Given the description of an element on the screen output the (x, y) to click on. 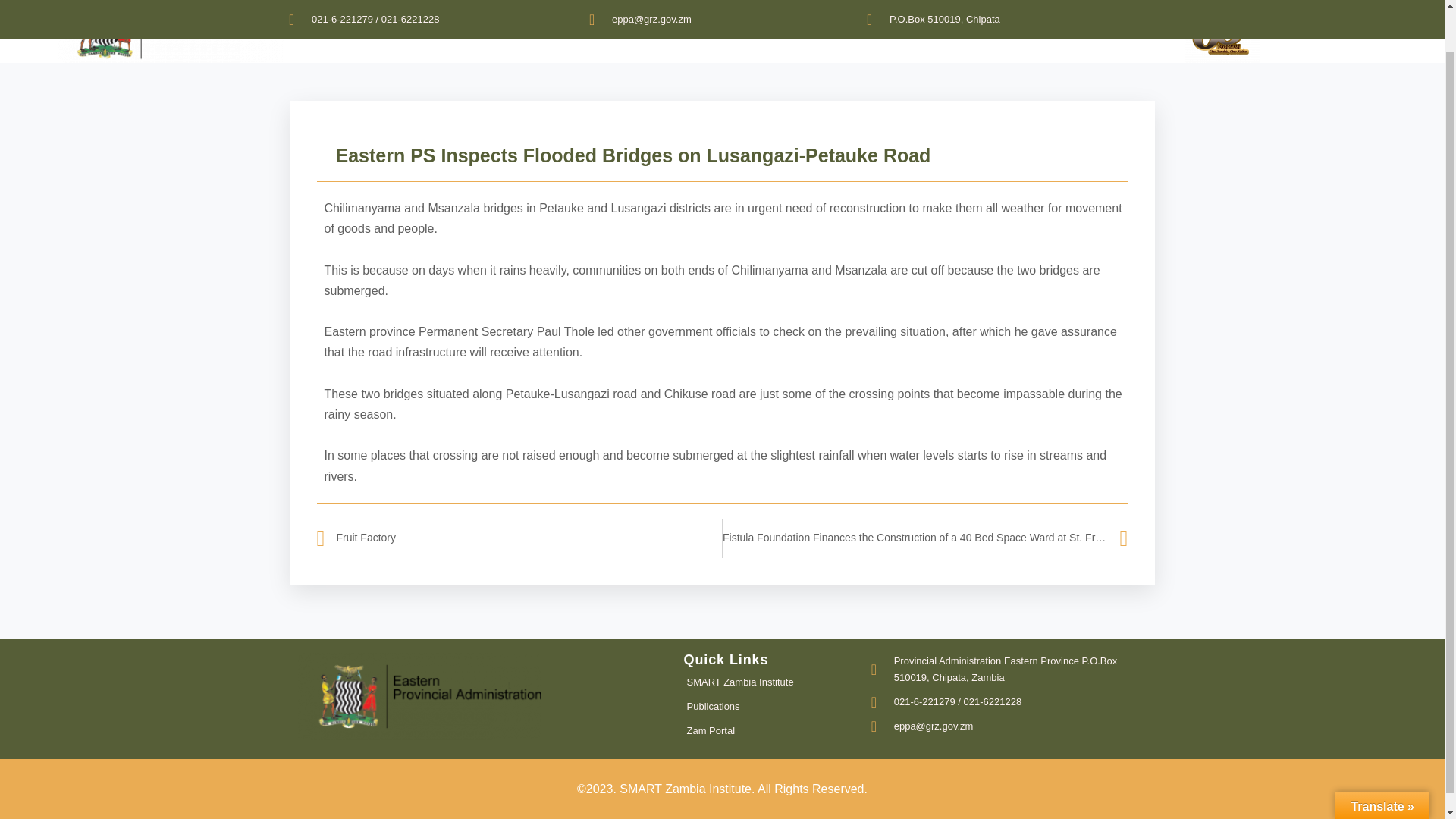
DEPARTMENTS (719, 28)
Publications (771, 706)
NEWS UPDATES (817, 28)
Fruit Factory (519, 538)
eastern provincial administration (171, 31)
CONTACT US (909, 28)
HOME (564, 28)
ABOUT US (633, 28)
SMART Zambia Institute (771, 682)
Zam Portal (771, 730)
